Given the description of an element on the screen output the (x, y) to click on. 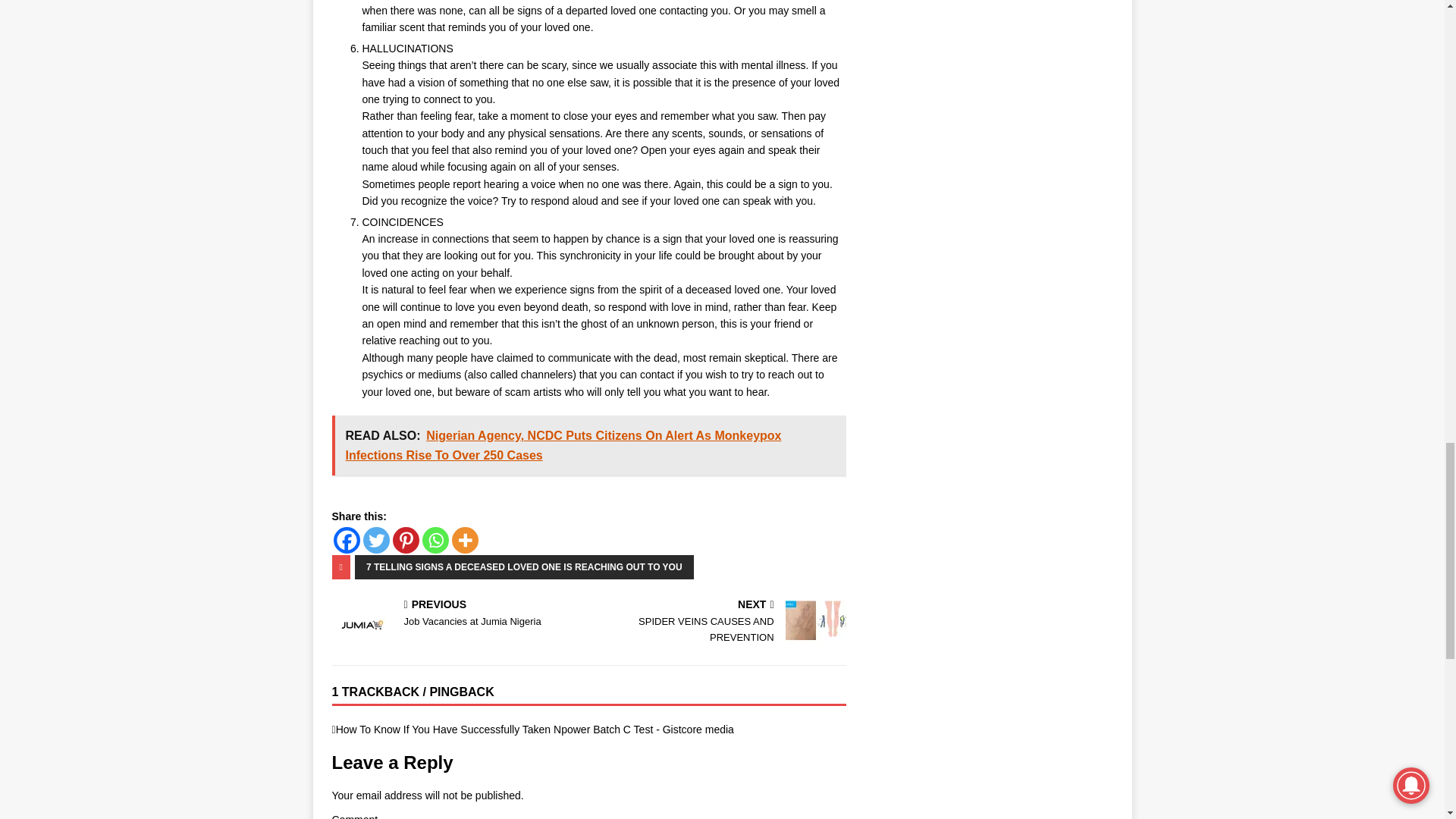
Pinterest (406, 540)
Facebook (346, 540)
Twitter (375, 540)
Whatsapp (720, 622)
7 TELLING SIGNS A DECEASED LOVED ONE IS REACHING OUT TO YOU (435, 540)
